Given the description of an element on the screen output the (x, y) to click on. 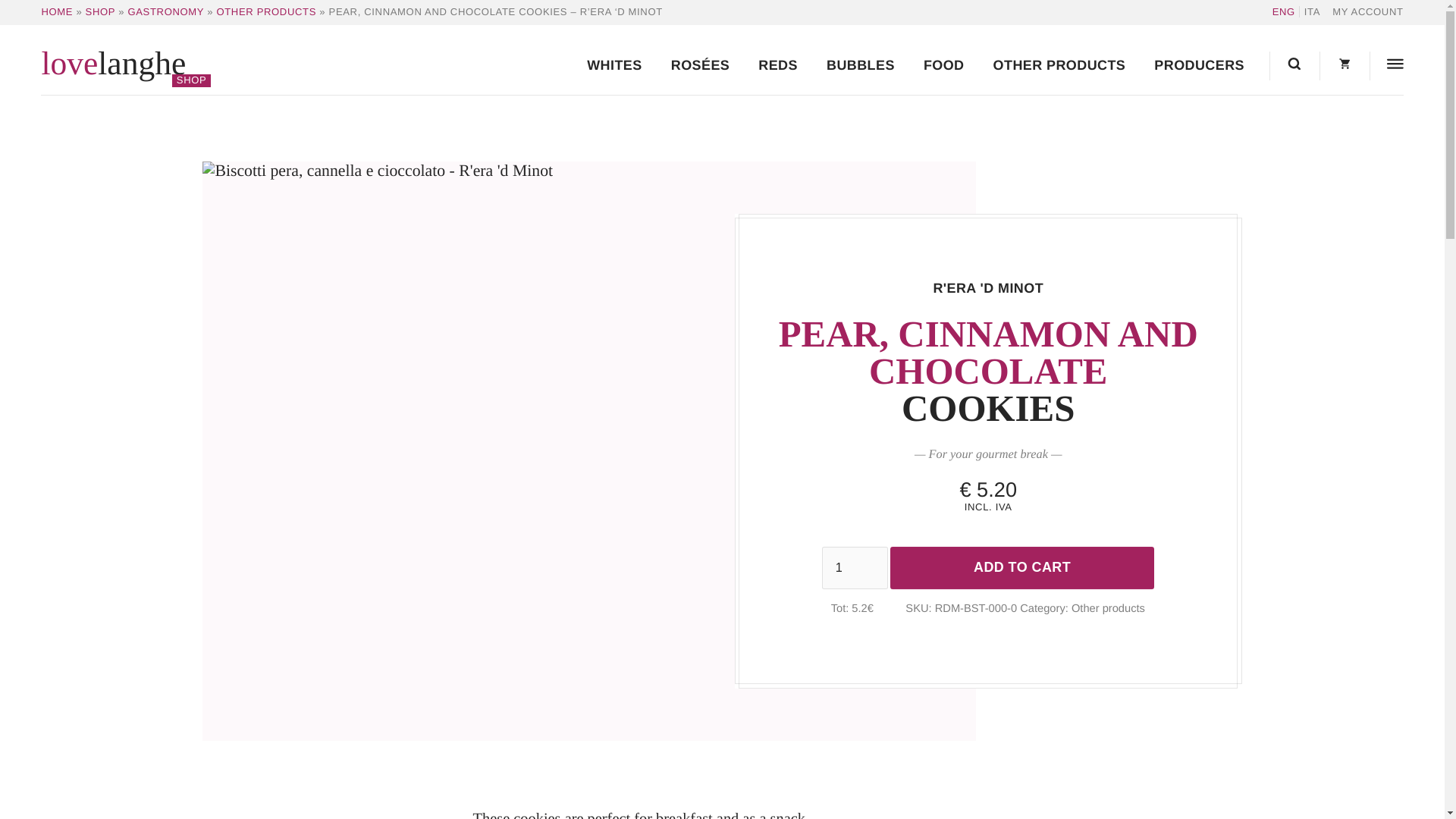
1 (855, 567)
